Given the description of an element on the screen output the (x, y) to click on. 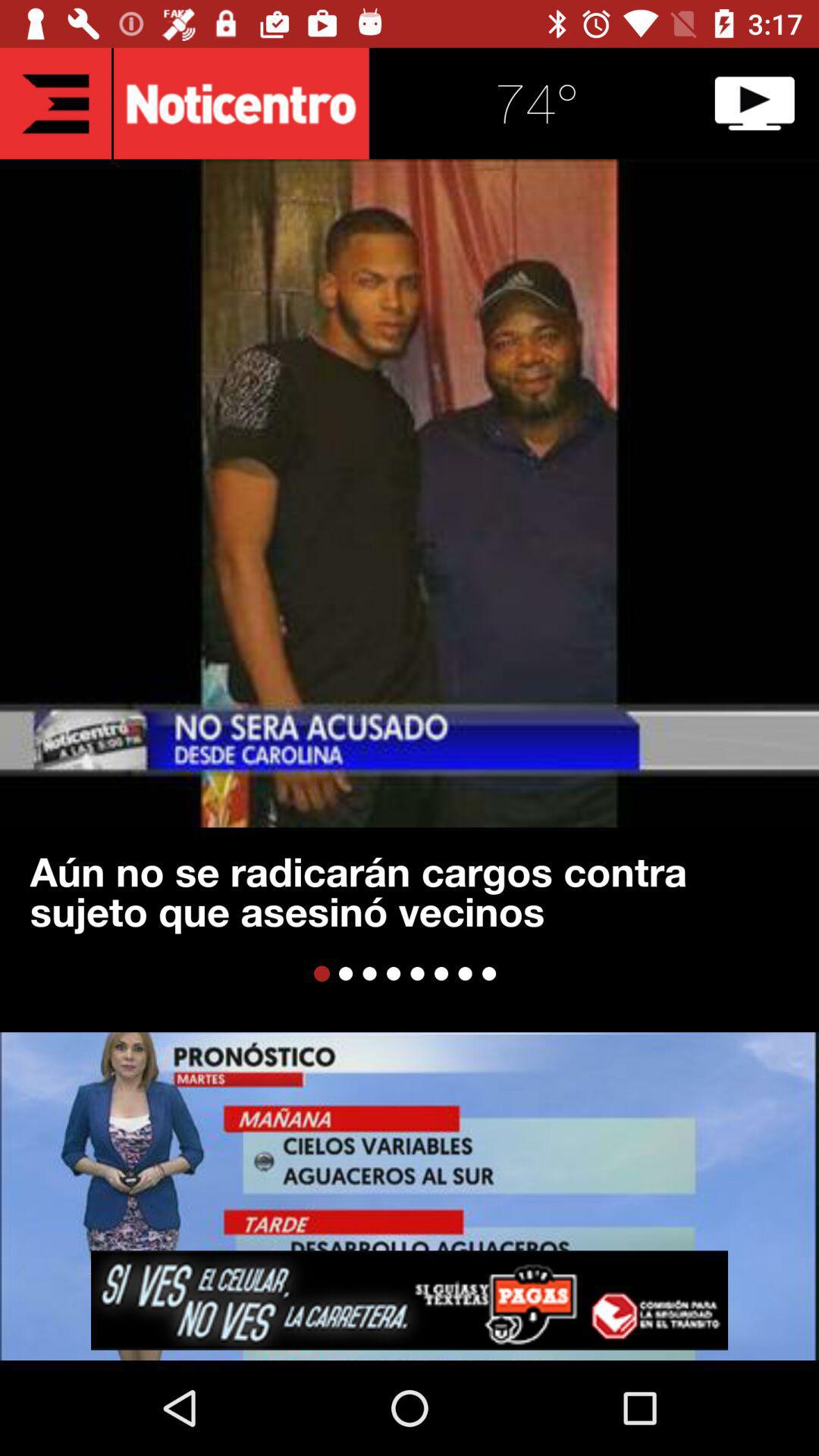
youtube button (754, 103)
